Given the description of an element on the screen output the (x, y) to click on. 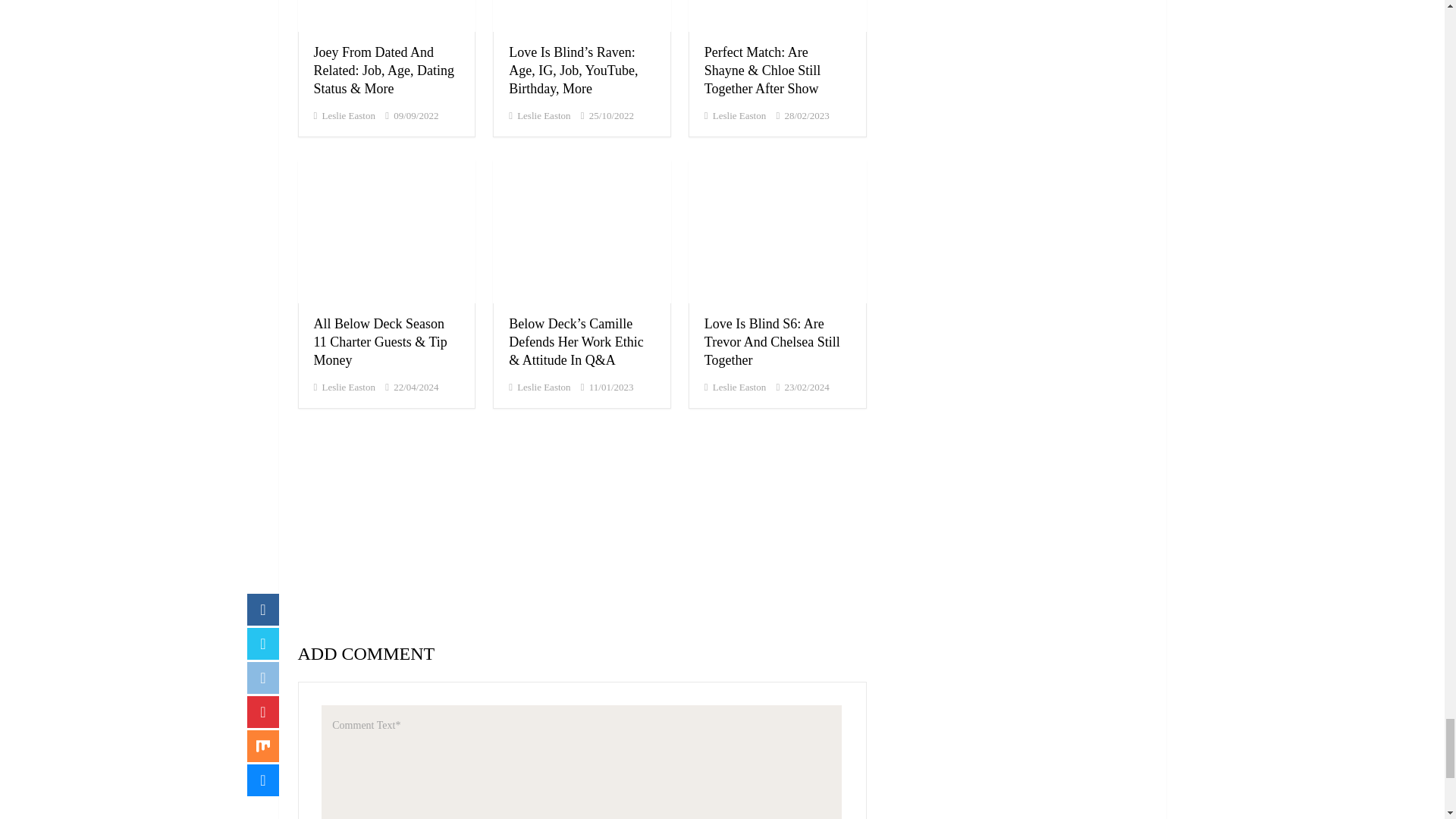
Posts by Leslie Easton (347, 115)
Posts by Leslie Easton (543, 115)
